Given the description of an element on the screen output the (x, y) to click on. 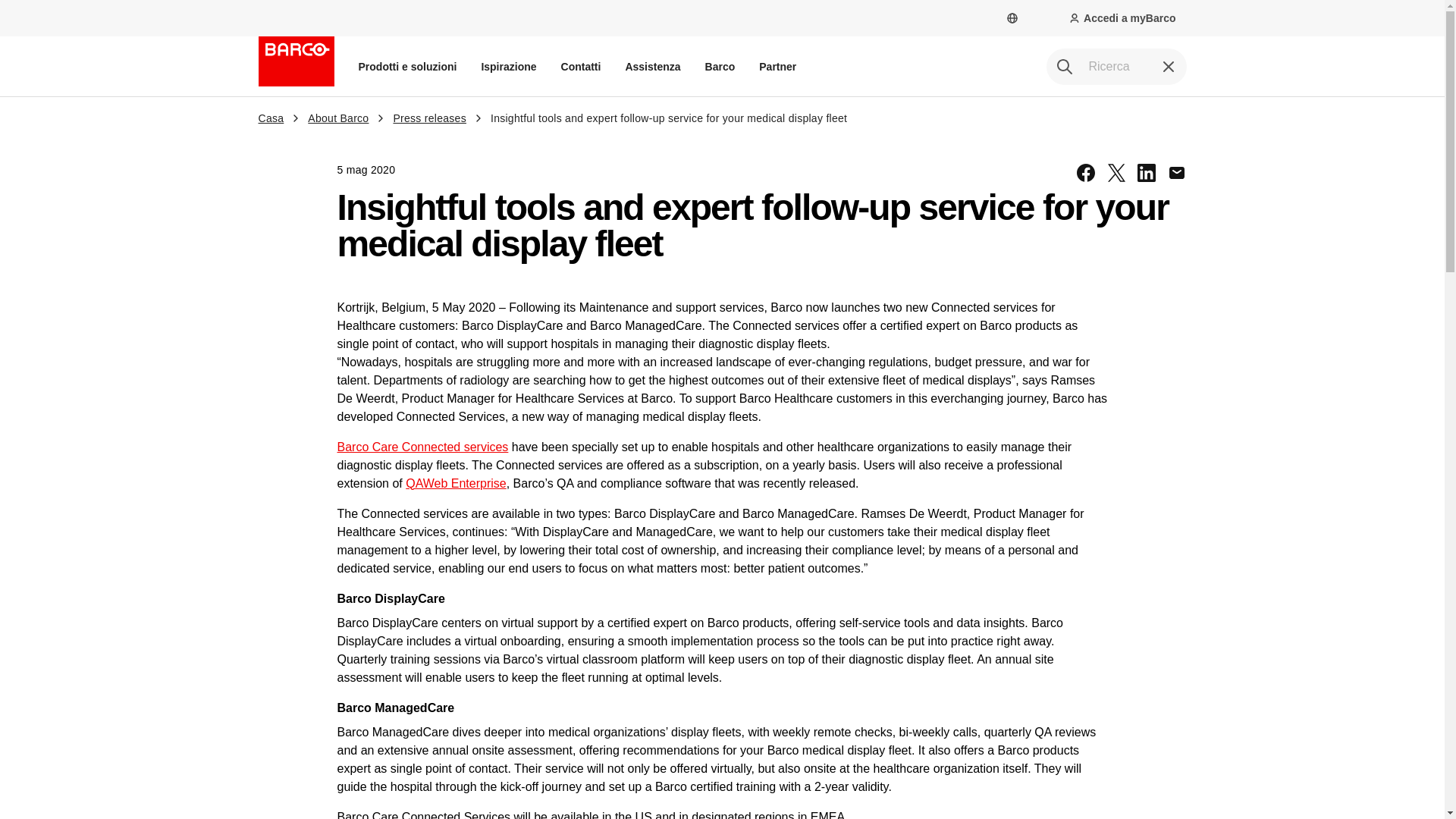
Assistenza (651, 66)
Prodotti e soluzioni (407, 66)
Ispirazione (507, 66)
